Given the description of an element on the screen output the (x, y) to click on. 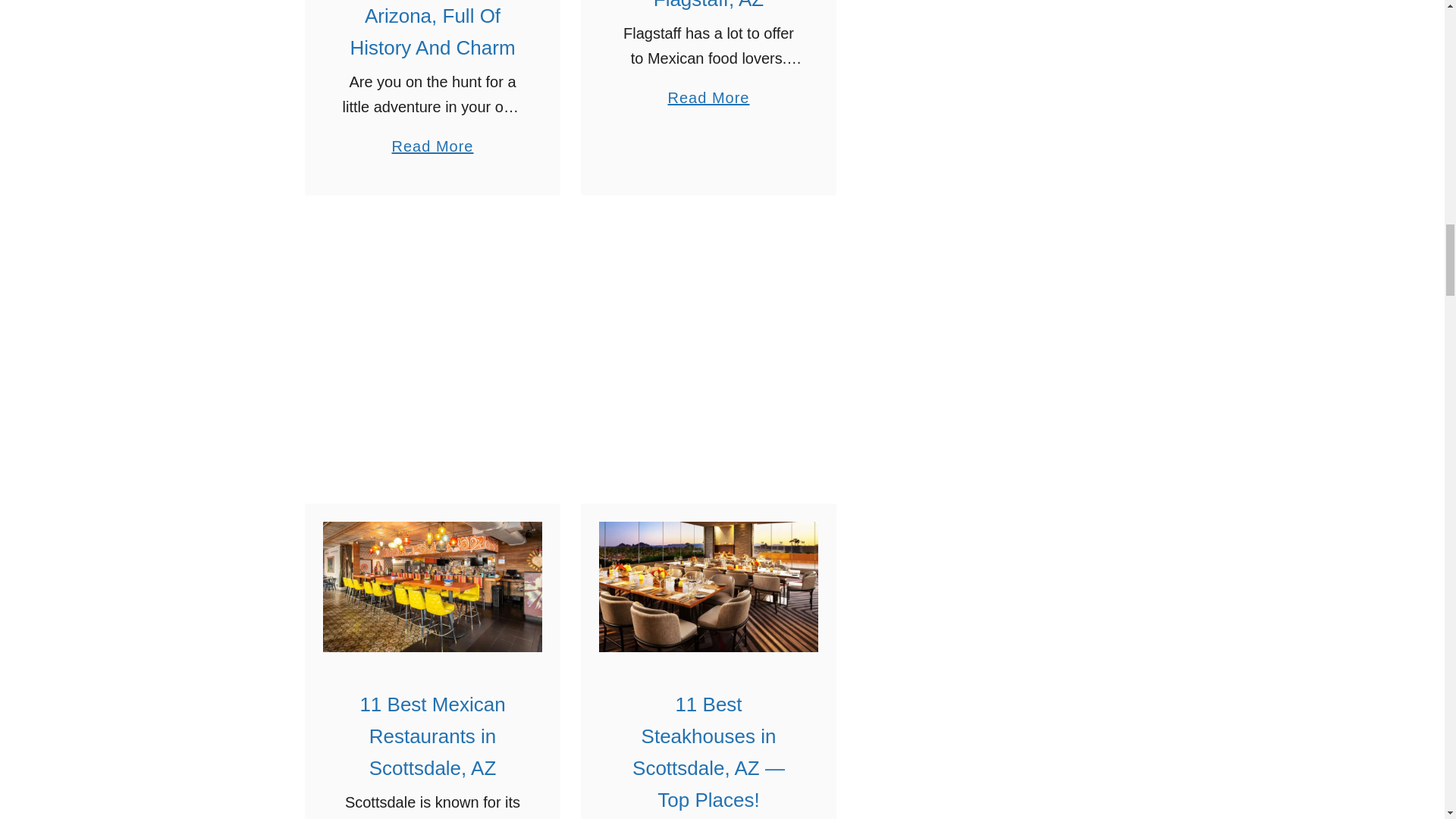
11 Best Mexican Restaurants in Scottsdale, AZ (432, 586)
